Given the description of an element on the screen output the (x, y) to click on. 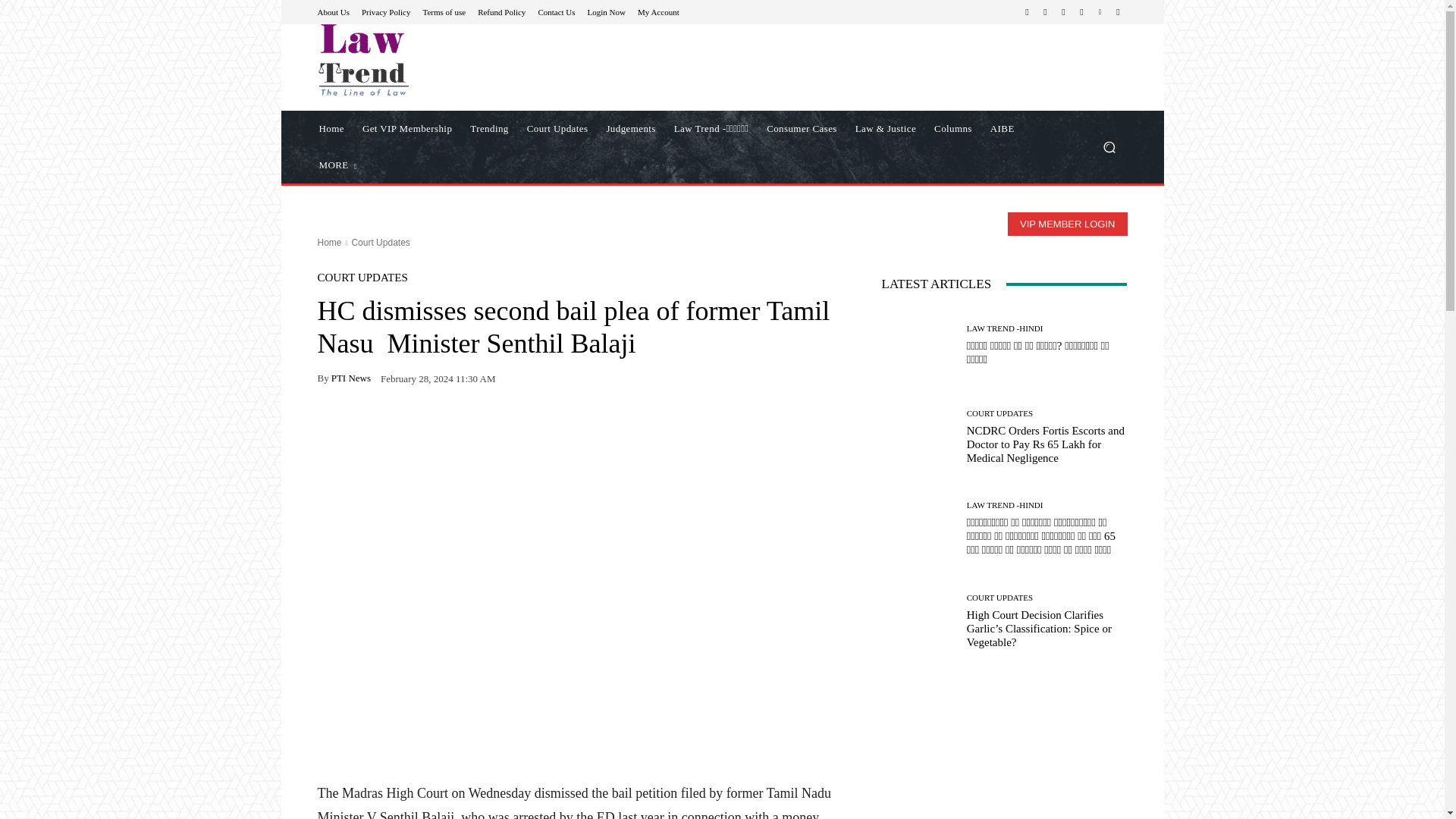
Instagram (1044, 12)
Privacy Policy (385, 11)
Law Trend- Legal News Website (425, 59)
Contact Us (556, 11)
VIP MEMBER LOGIN (1066, 223)
Login Now (607, 11)
Law Trend- Legal News Website (362, 59)
Telegram (1062, 12)
Refund Policy (501, 11)
Youtube (1117, 12)
